Given the description of an element on the screen output the (x, y) to click on. 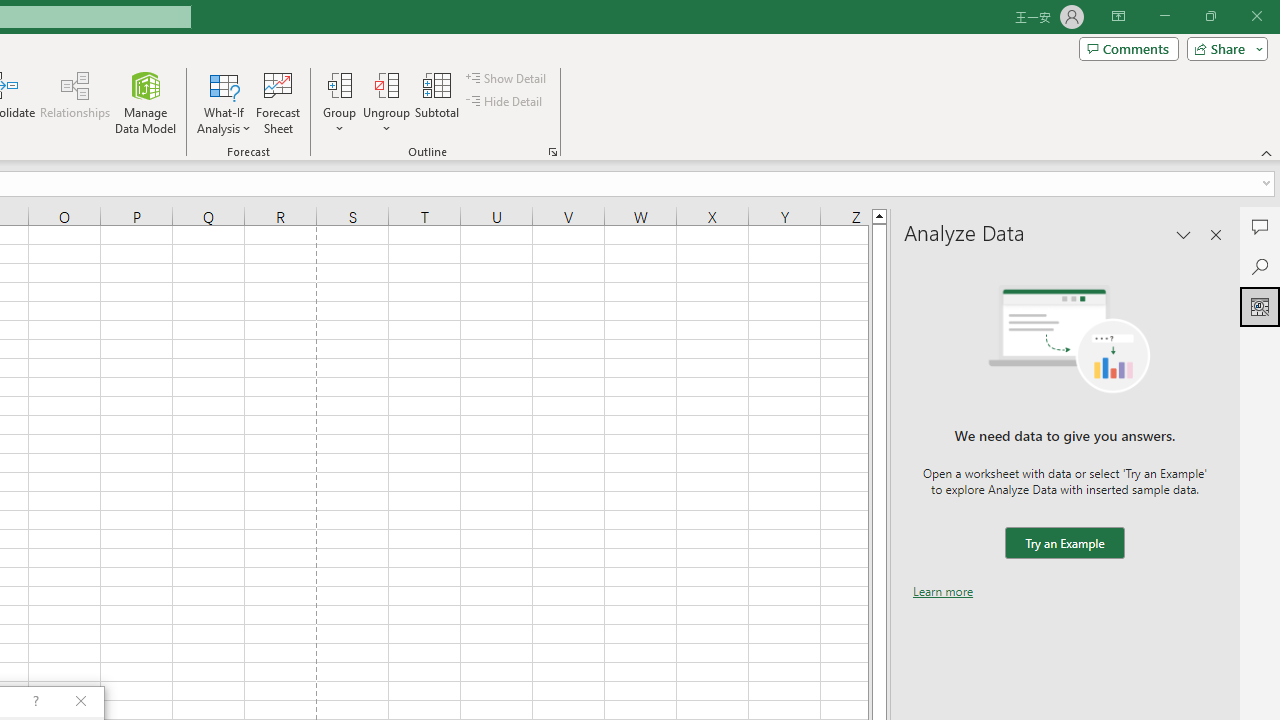
Forecast Sheet (278, 102)
We need data to give you answers. Try an Example (1064, 543)
Show Detail (507, 78)
What-If Analysis (223, 102)
Relationships (75, 102)
